Given the description of an element on the screen output the (x, y) to click on. 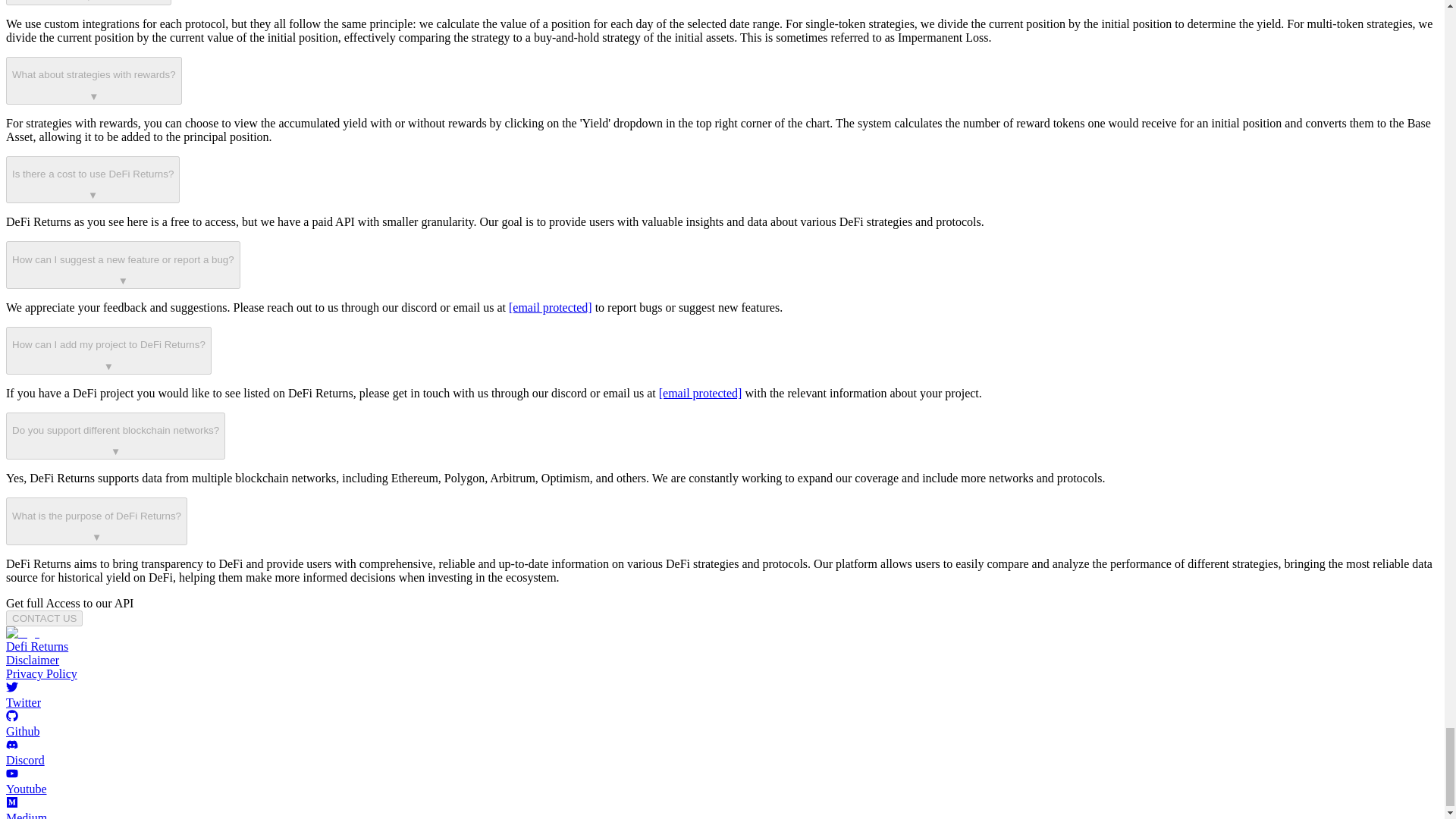
Privacy Policy (41, 673)
CONTACT US (43, 618)
Disclaimer (32, 659)
